Given the description of an element on the screen output the (x, y) to click on. 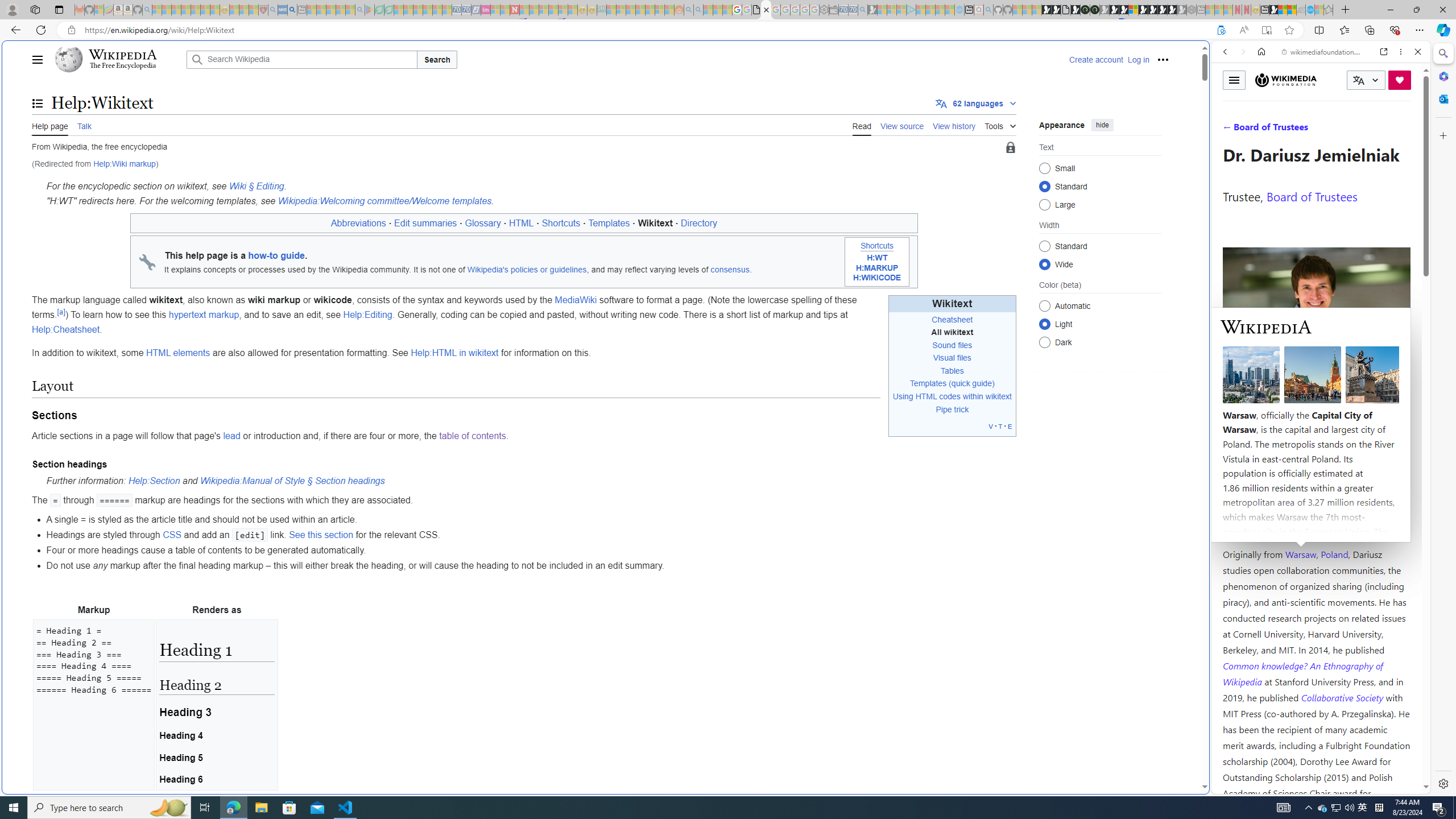
hide (1102, 124)
Help:Editing (368, 314)
Cheatsheet (951, 319)
